Given the description of an element on the screen output the (x, y) to click on. 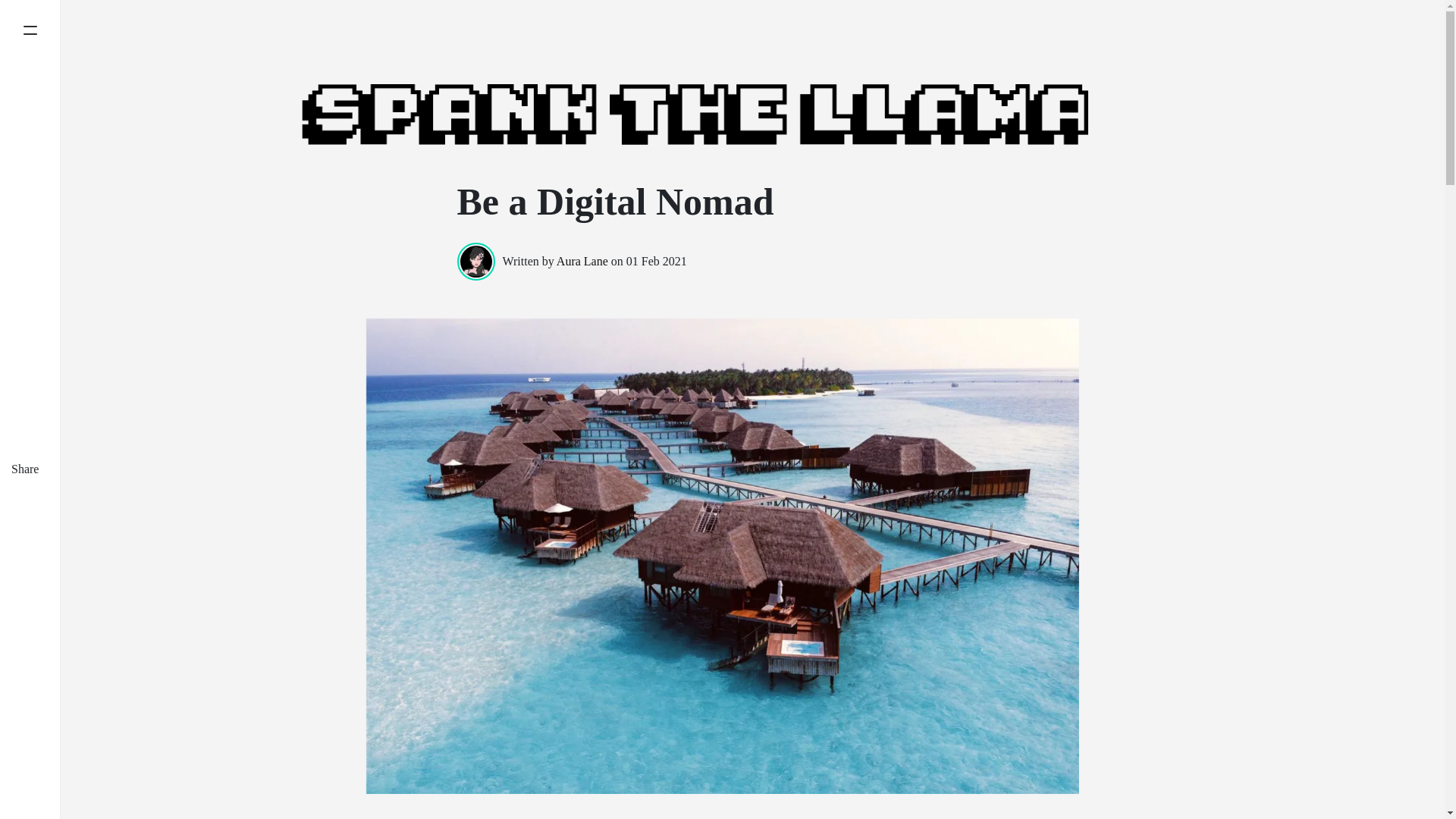
Aura Lane (582, 260)
